Given the description of an element on the screen output the (x, y) to click on. 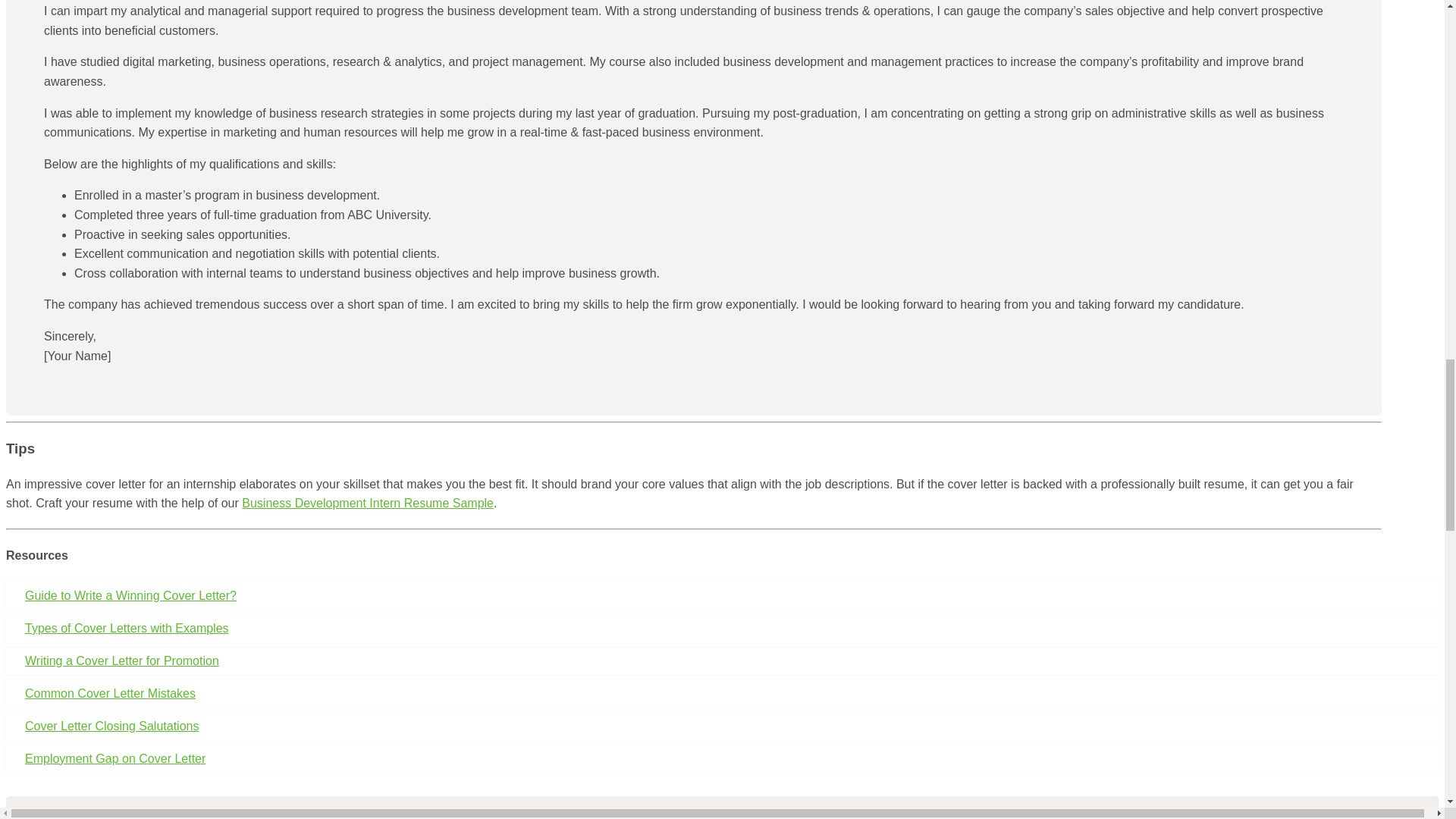
Employment Gap on Cover Letter (721, 758)
Cover Letter Closing Salutations (721, 726)
Writing a Cover Letter for Promotion (721, 661)
Types of Cover Letters with Examples (721, 628)
Guide to Write a Winning Cover Letter? (721, 595)
Common Cover Letter Mistakes (721, 693)
Business Development Intern Resume Sample (367, 502)
Employment Gap on Cover Letter (721, 758)
Common Cover Letter Mistakes (721, 693)
Types of Cover Letters (721, 628)
Cover Letter Guide? (721, 595)
Cover Letter Closing Salutations (721, 726)
